Given the description of an element on the screen output the (x, y) to click on. 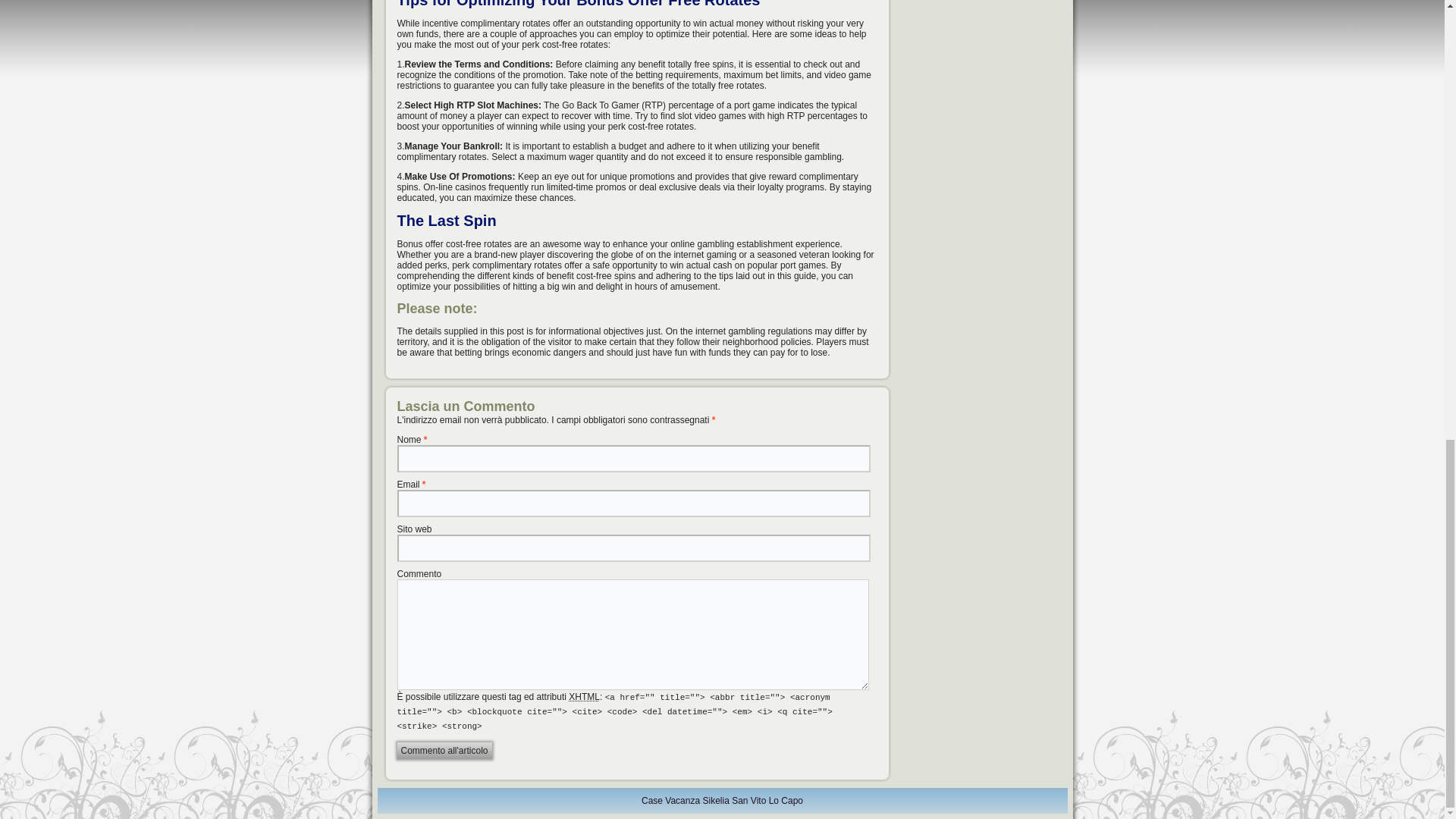
Commento all'articolo (444, 750)
Commento all'articolo (444, 750)
